Given the description of an element on the screen output the (x, y) to click on. 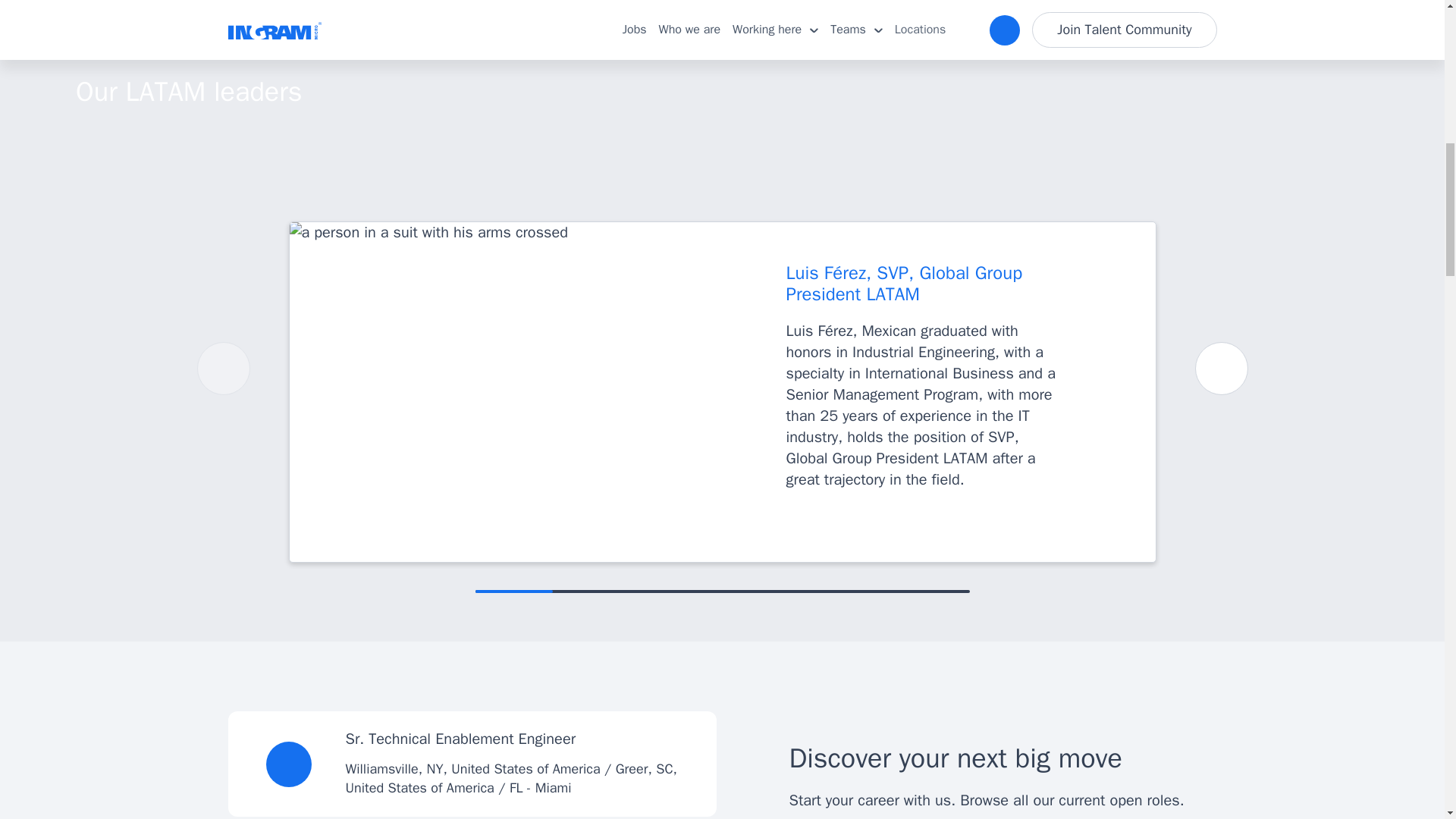
Save (287, 764)
Sr. Technical Enablement Engineer (461, 738)
Save (287, 764)
